Given the description of an element on the screen output the (x, y) to click on. 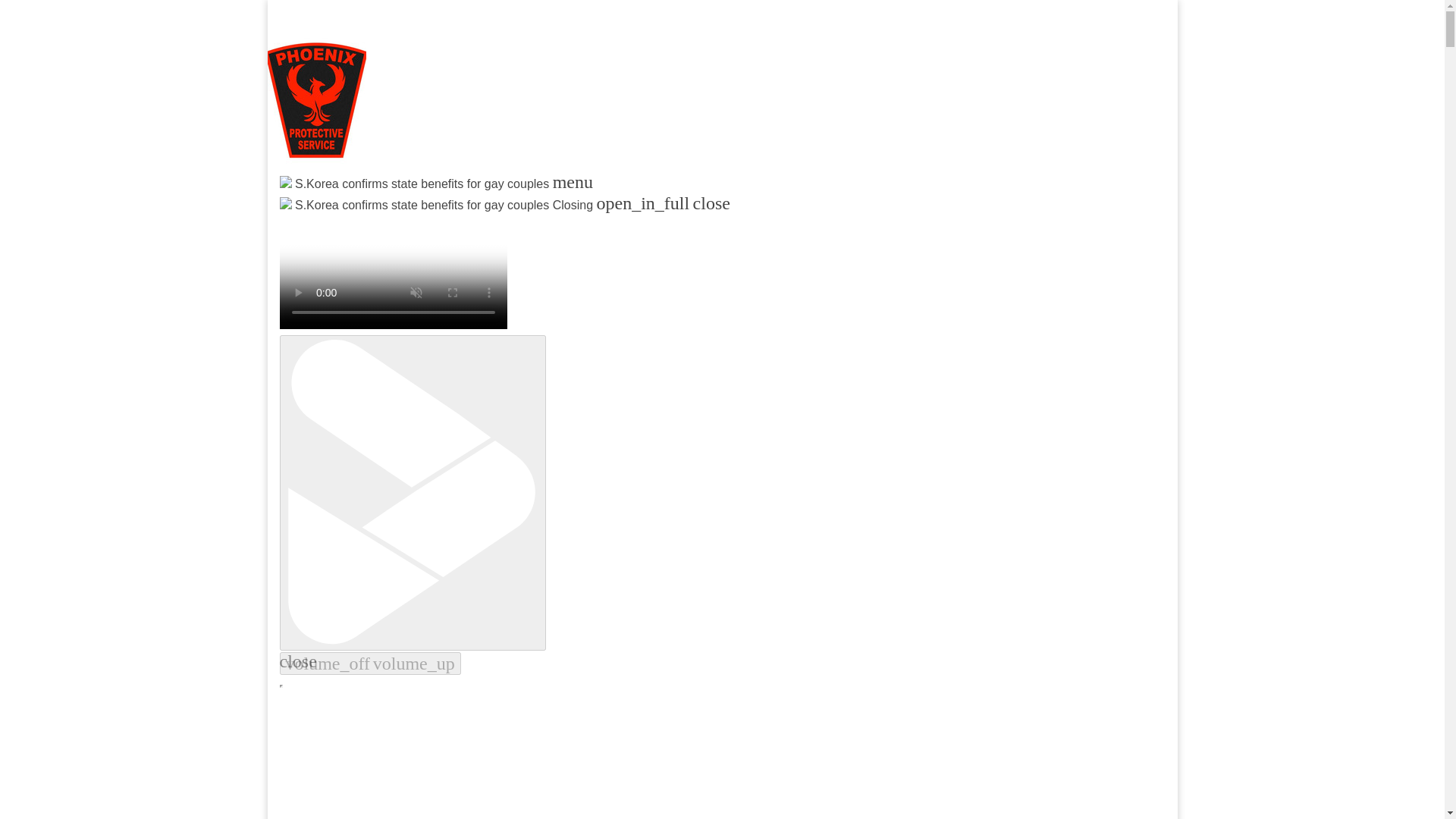
Skope Entertainment Inc (462, 220)
Skope Entertainment Inc (462, 220)
